Given the description of an element on the screen output the (x, y) to click on. 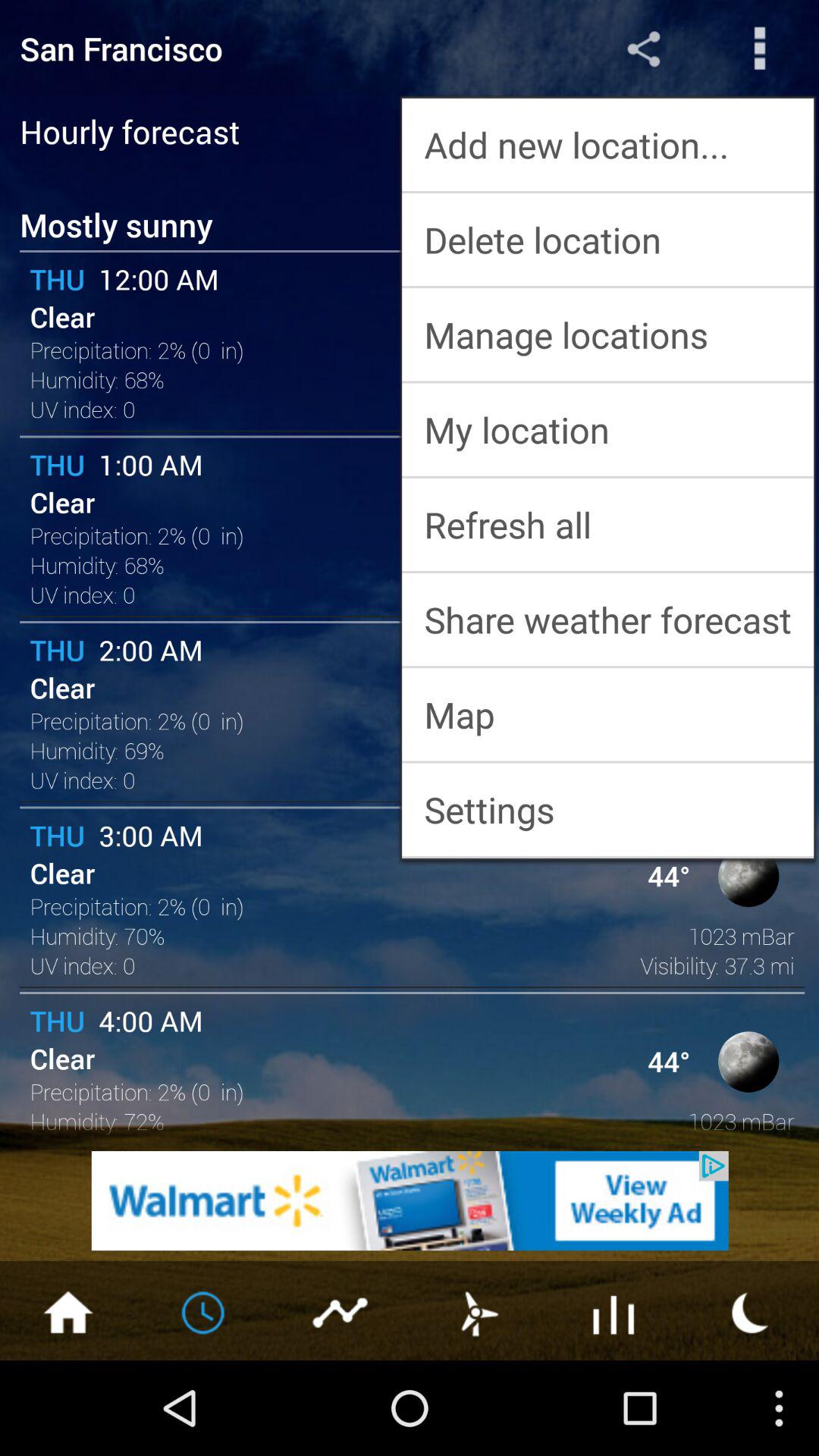
swipe until the delete location app (607, 239)
